Given the description of an element on the screen output the (x, y) to click on. 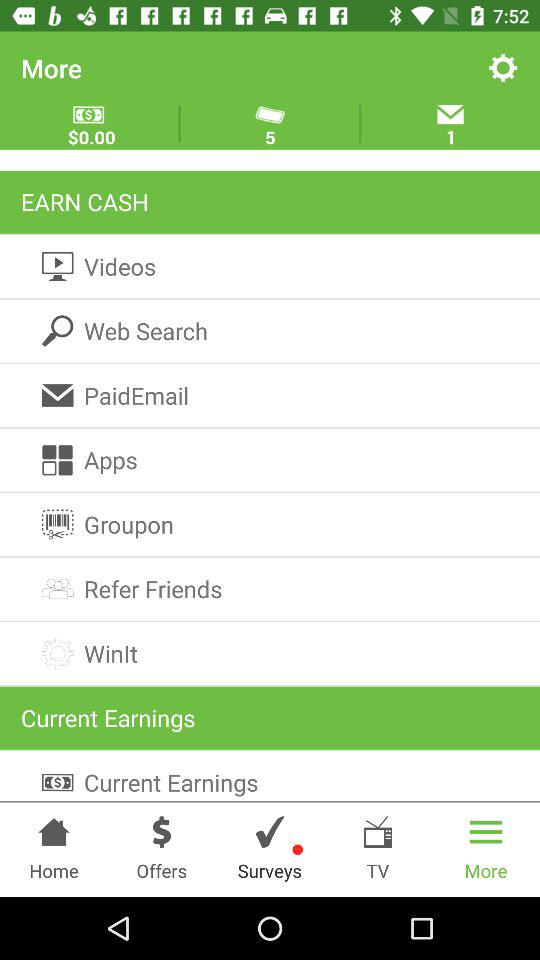
swipe to the earn cash (270, 201)
